Given the description of an element on the screen output the (x, y) to click on. 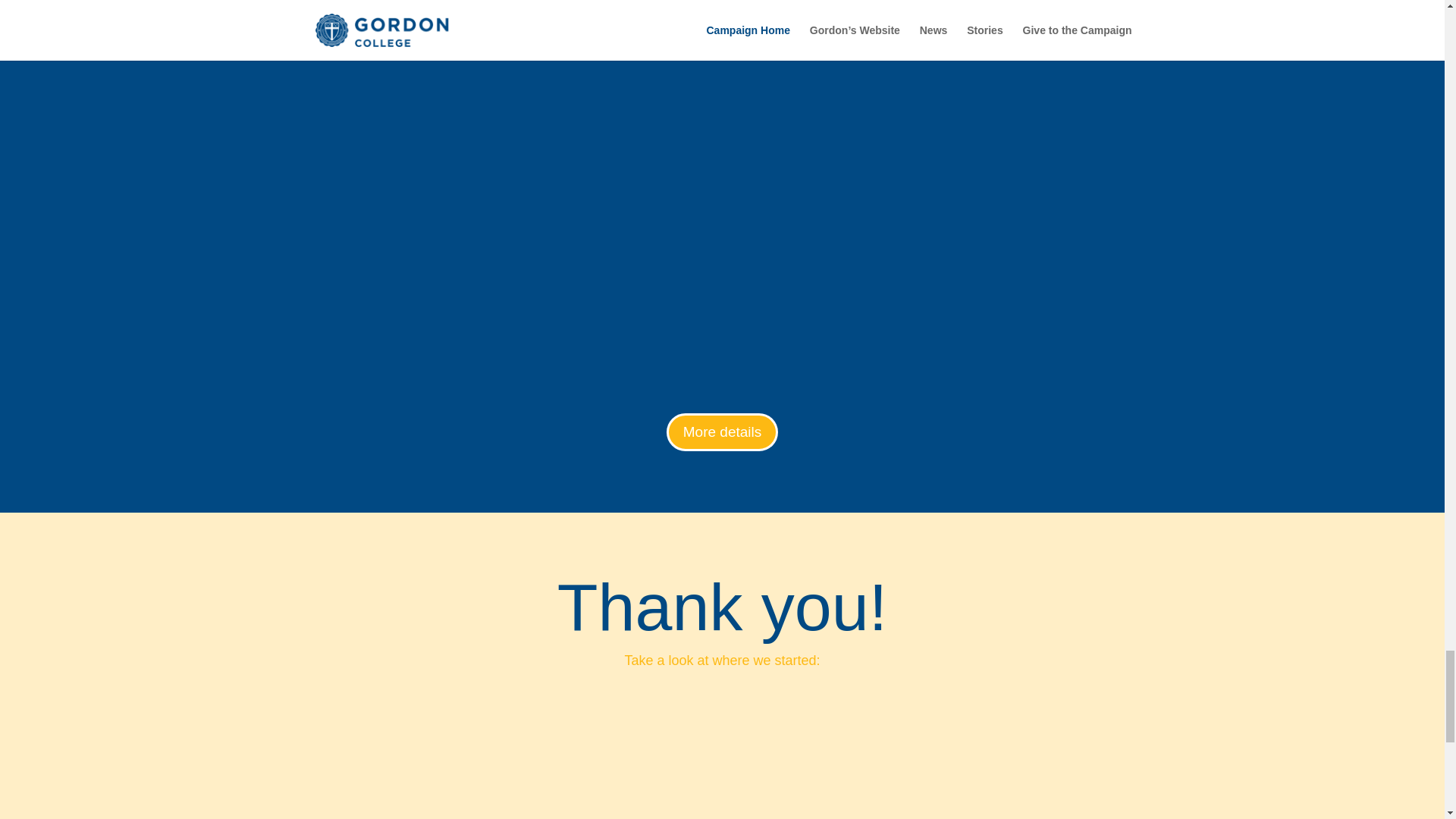
Faith Rising: The Campaign for Gordon College (722, 757)
More details (722, 432)
